Given the description of an element on the screen output the (x, y) to click on. 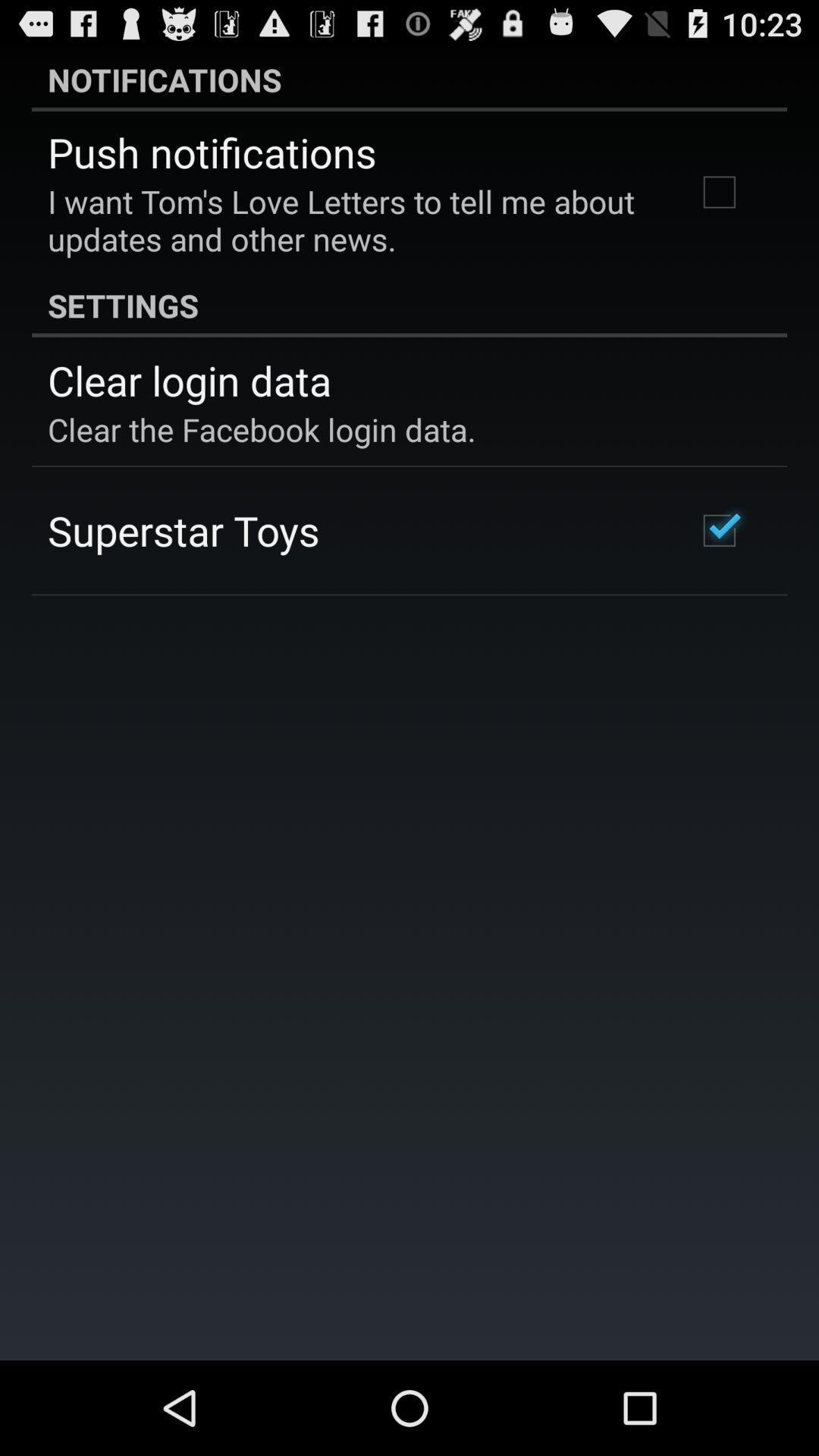
scroll to push notifications item (211, 151)
